Given the description of an element on the screen output the (x, y) to click on. 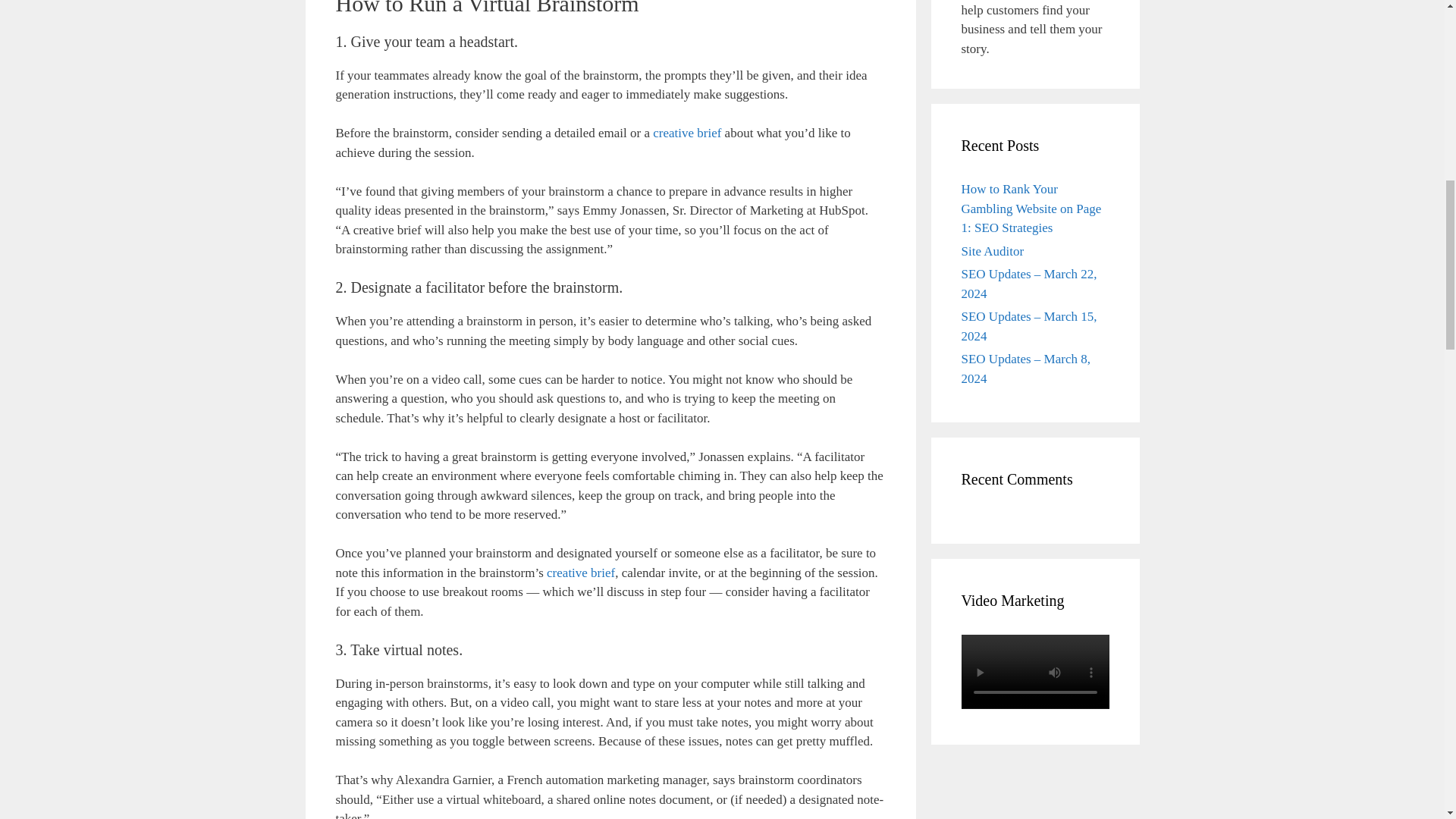
creative brief (580, 572)
Site Auditor (992, 251)
creative brief (686, 133)
How to Rank Your Gambling Website on Page 1: SEO Strategies (1031, 208)
